Given the description of an element on the screen output the (x, y) to click on. 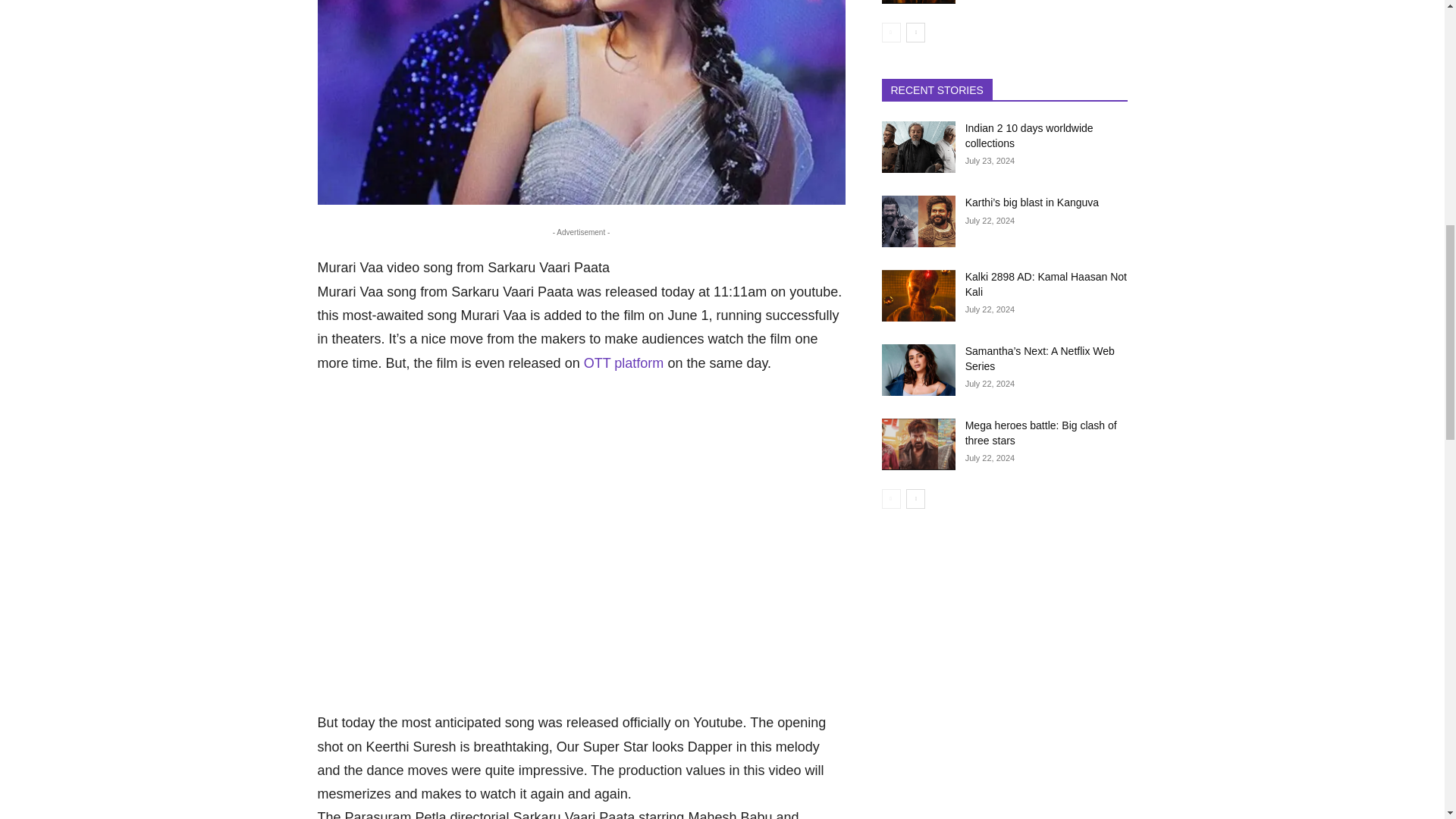
SVP-adding-a-new-song-in-theatres-Murari-Bava (580, 102)
